Given the description of an element on the screen output the (x, y) to click on. 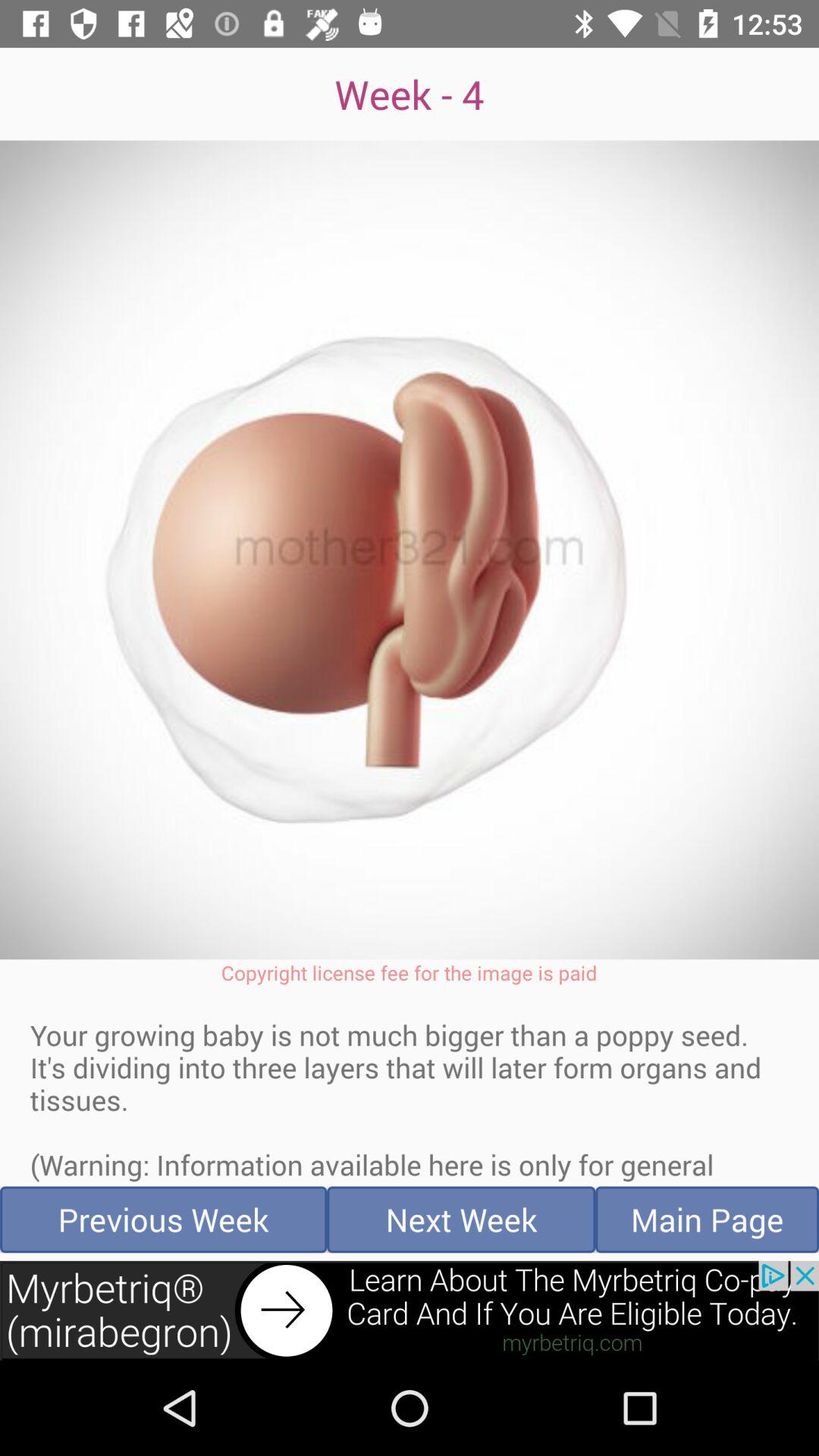
open advertisement (409, 1310)
